Given the description of an element on the screen output the (x, y) to click on. 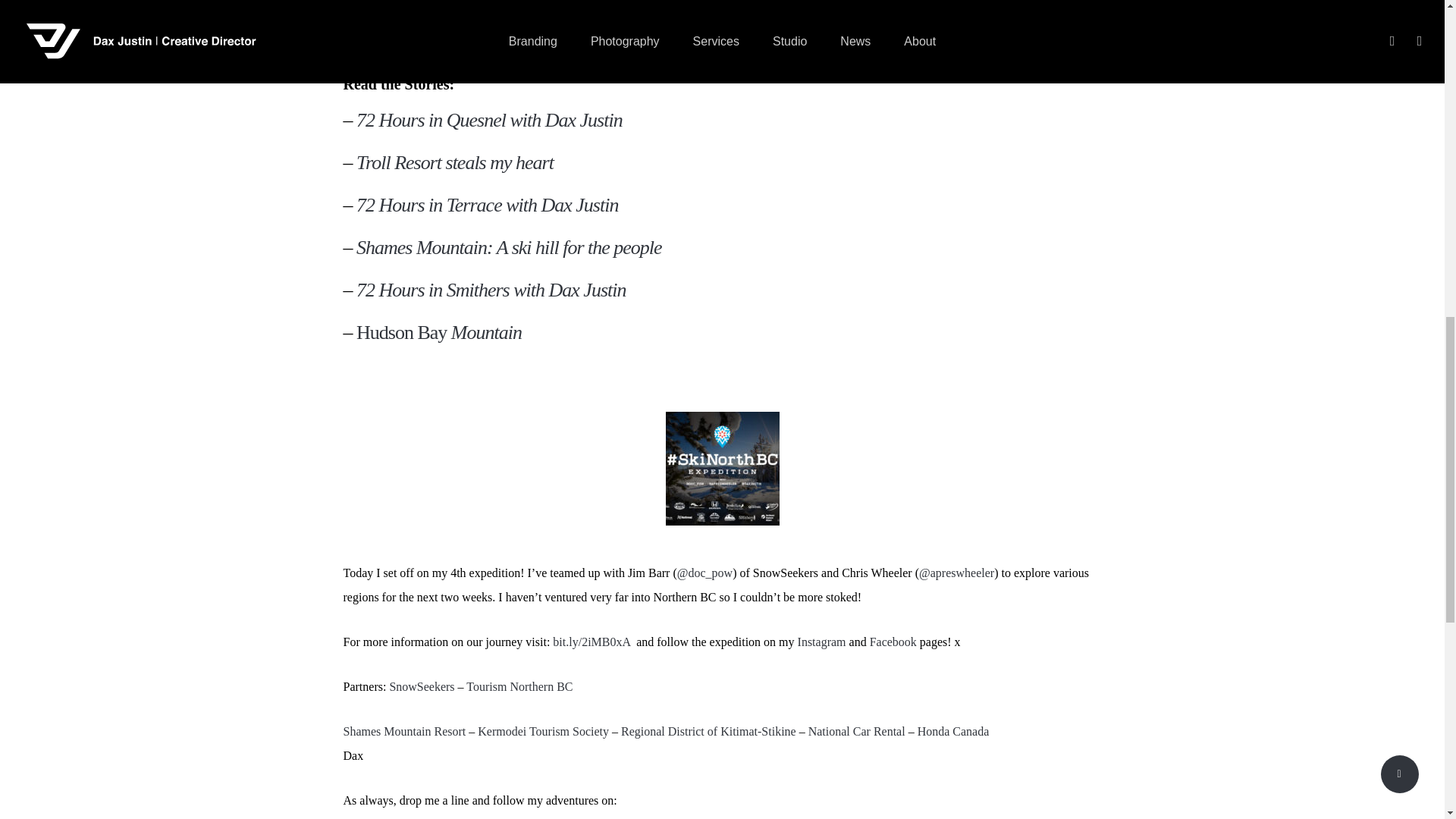
Hudson Bay Mountain (438, 332)
Kermodei Tourism Society (542, 730)
National Car Rental (856, 730)
Honda Canada (953, 730)
Instagram (369, 818)
Shames Mountain: A ski hill for the people (509, 247)
Troll Resort steals my heart (454, 162)
Shames Mountain Resort (403, 730)
Instagram (821, 641)
Regional District of Kitimat-Stikine (708, 730)
SnowSeekers (421, 686)
Tourism Northern BC (518, 686)
Facebook (894, 641)
72 Hours in Quesnel with Dax Justin (489, 119)
72 Hours in Terrace with Dax Justin (486, 205)
